Given the description of an element on the screen output the (x, y) to click on. 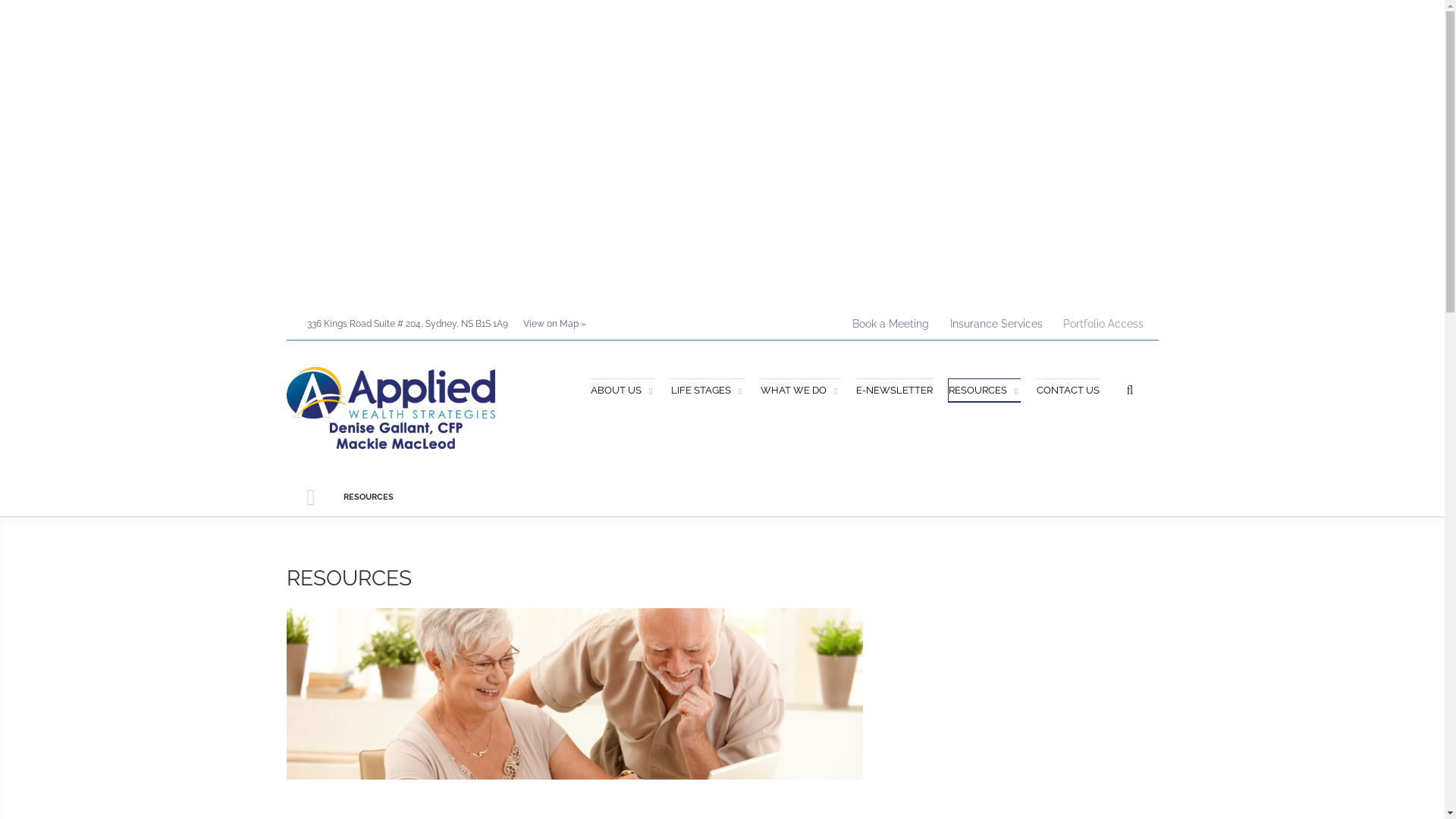
Book a Meeting Element type: text (887, 324)
RESOURCES Element type: text (983, 390)
ABOUT US Element type: text (622, 390)
Home Element type: hover (390, 406)
Insurance Services Element type: text (993, 324)
HOME Element type: text (310, 497)
WHAT WE DO Element type: text (799, 390)
Skip to main content Element type: text (51, 0)
Portfolio Access Element type: text (1099, 323)
CONTACT US Element type: text (1067, 390)
Resources Element type: hover (574, 693)
E-NEWSLETTER Element type: text (893, 390)
LIFE STAGES Element type: text (707, 390)
